Given the description of an element on the screen output the (x, y) to click on. 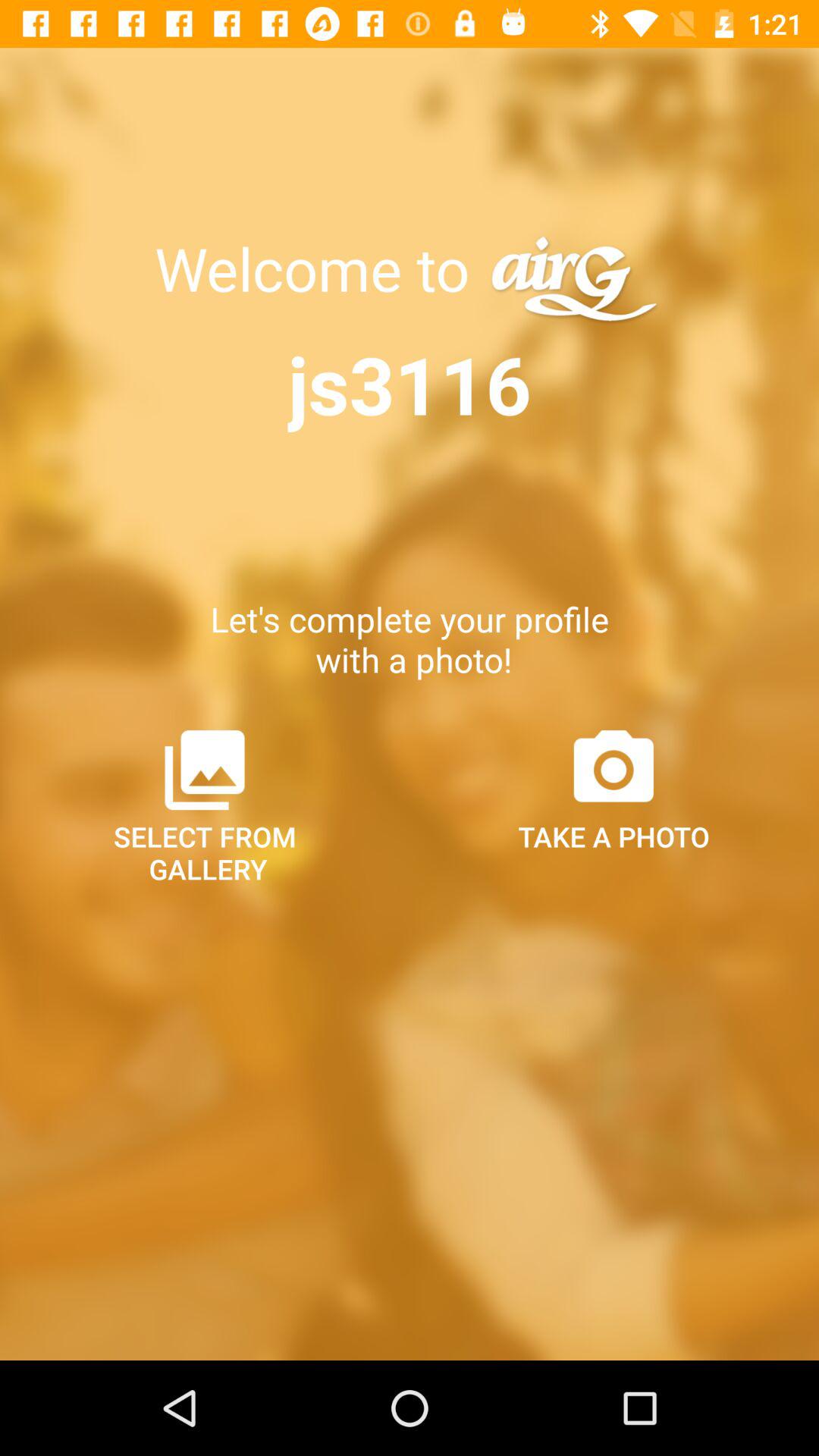
launch the select from
 gallery item (204, 804)
